Given the description of an element on the screen output the (x, y) to click on. 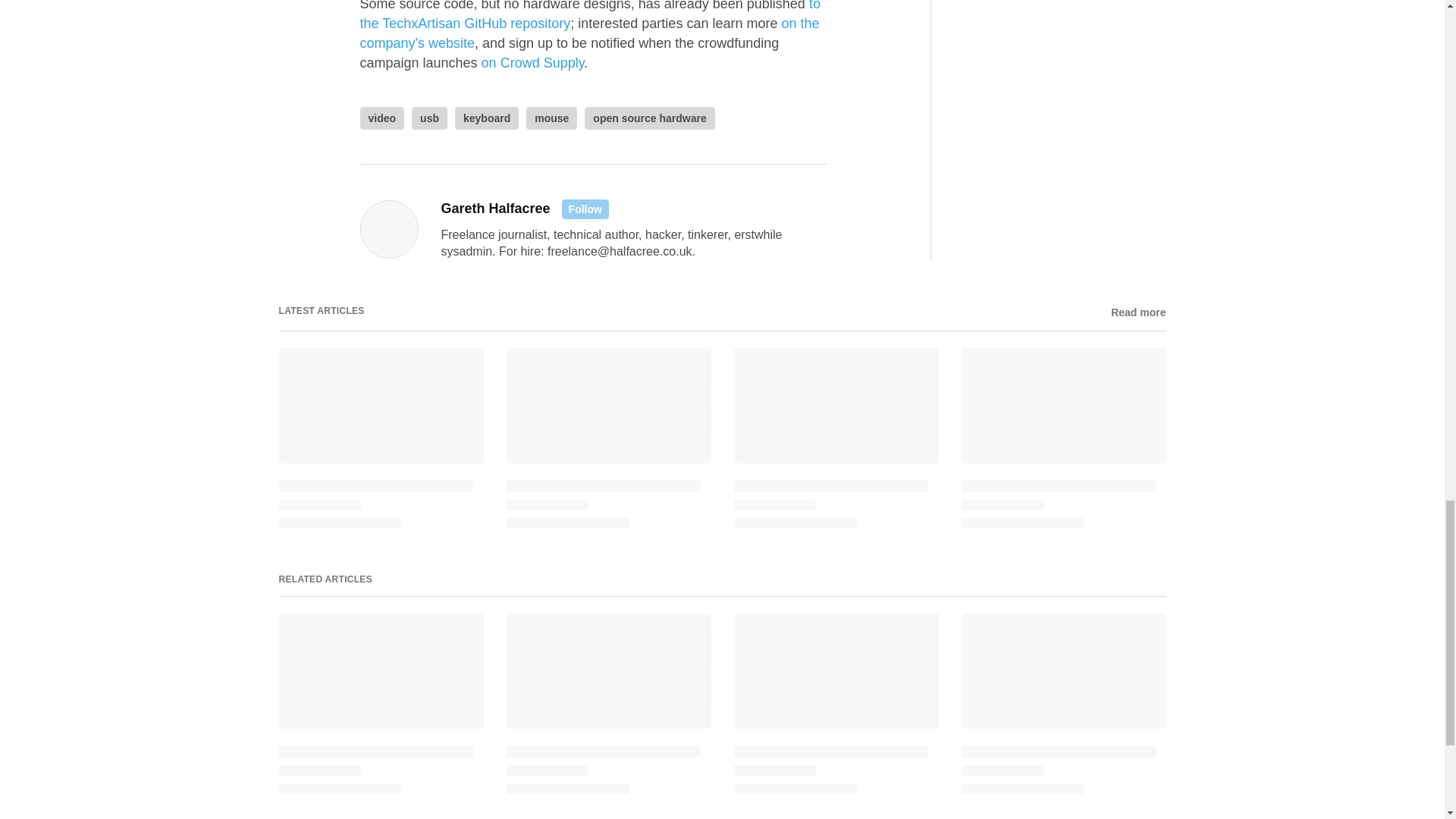
on Crowd Supply (533, 62)
usb (429, 118)
open source hardware (649, 118)
to the TechxArtisan GitHub repository (589, 15)
video (381, 118)
on the company's website (588, 32)
keyboard (486, 118)
mouse (550, 118)
Follow (585, 209)
Read more (1138, 312)
